Given the description of an element on the screen output the (x, y) to click on. 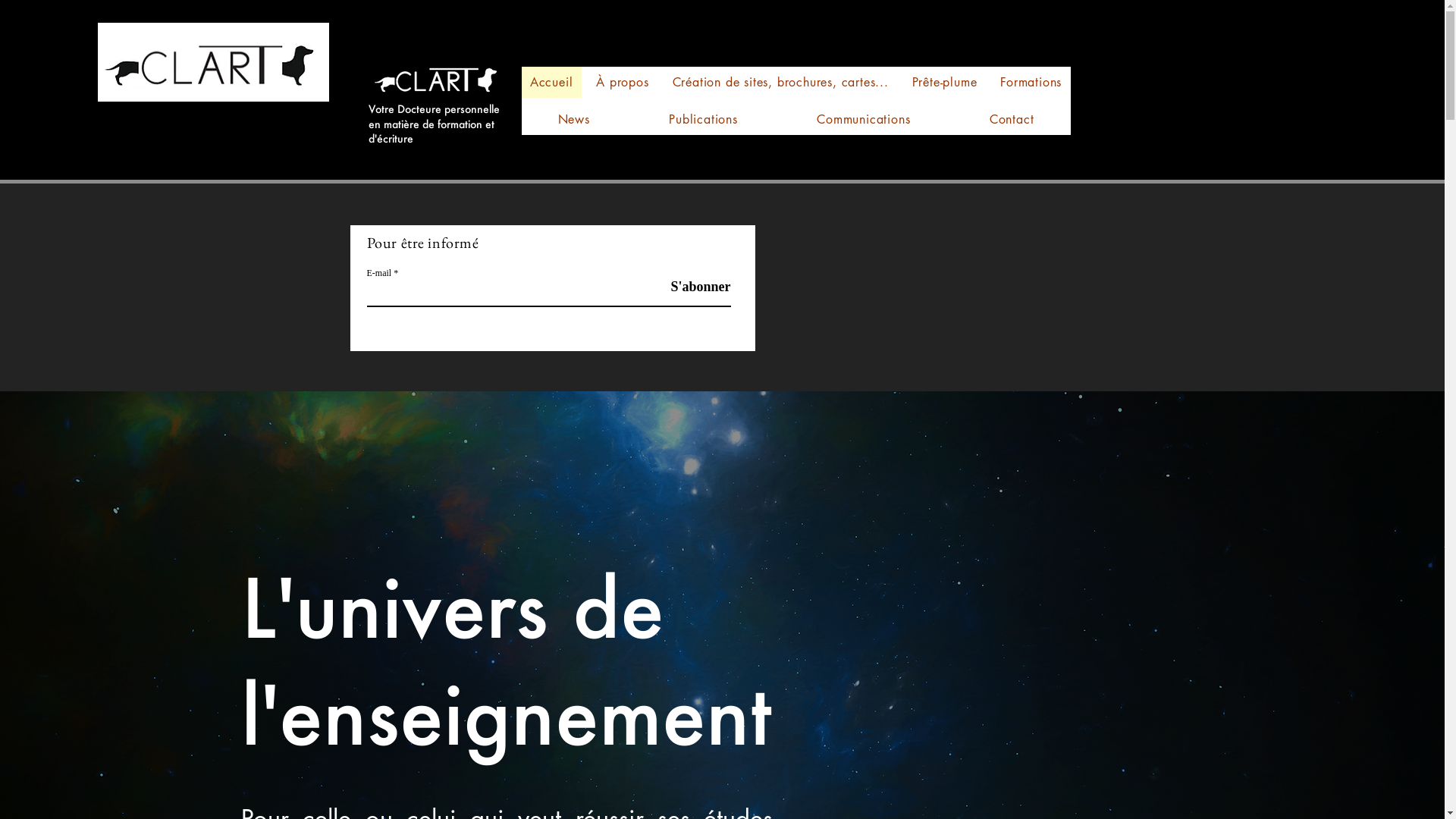
Contact Element type: text (1011, 118)
Accueil Element type: text (551, 81)
News Element type: text (574, 118)
Publications Element type: text (703, 118)
Formations Element type: text (1030, 81)
S'abonner Element type: text (691, 286)
Communications Element type: text (863, 118)
